Given the description of an element on the screen output the (x, y) to click on. 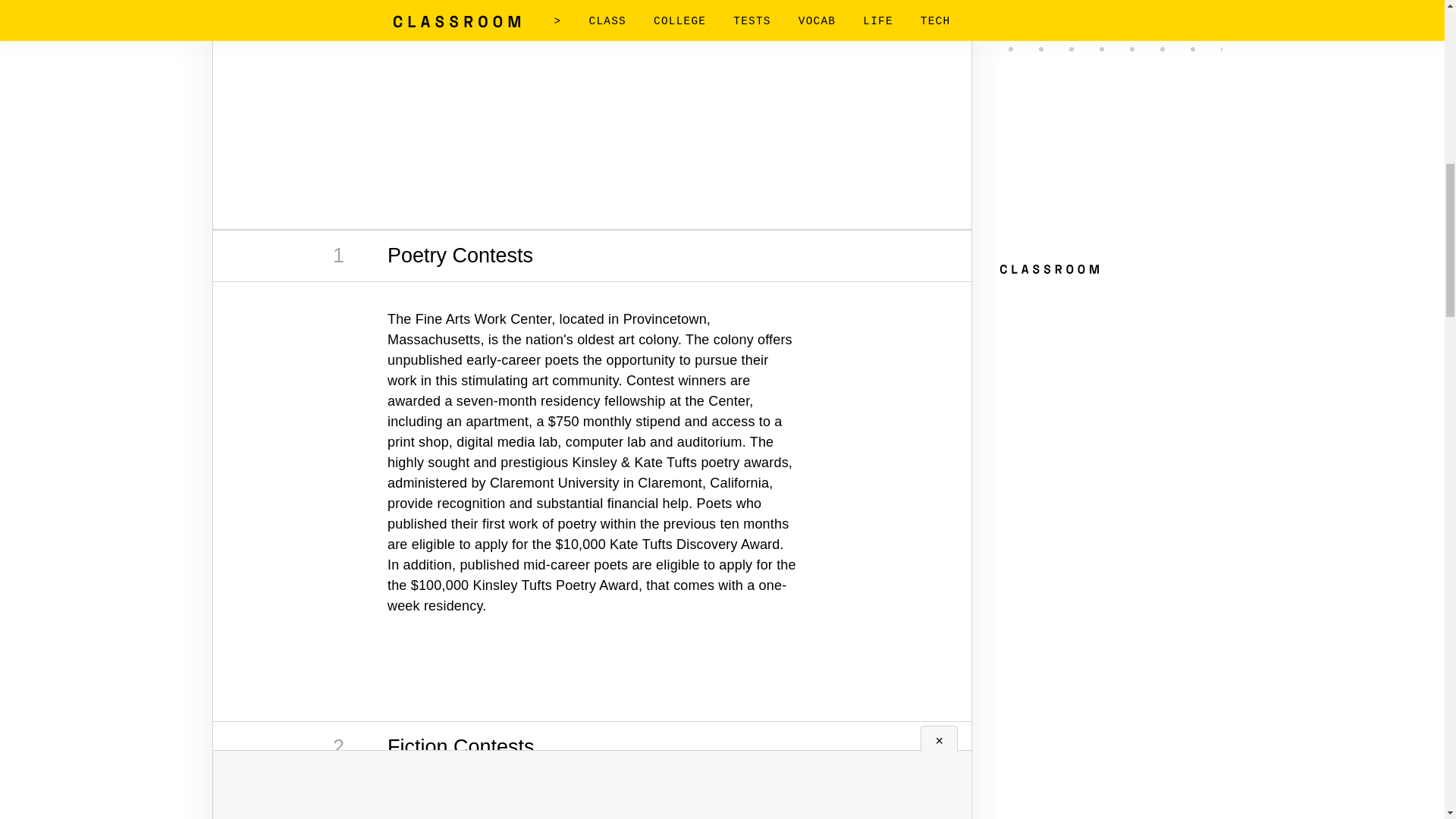
Advertisement (591, 796)
